Given the description of an element on the screen output the (x, y) to click on. 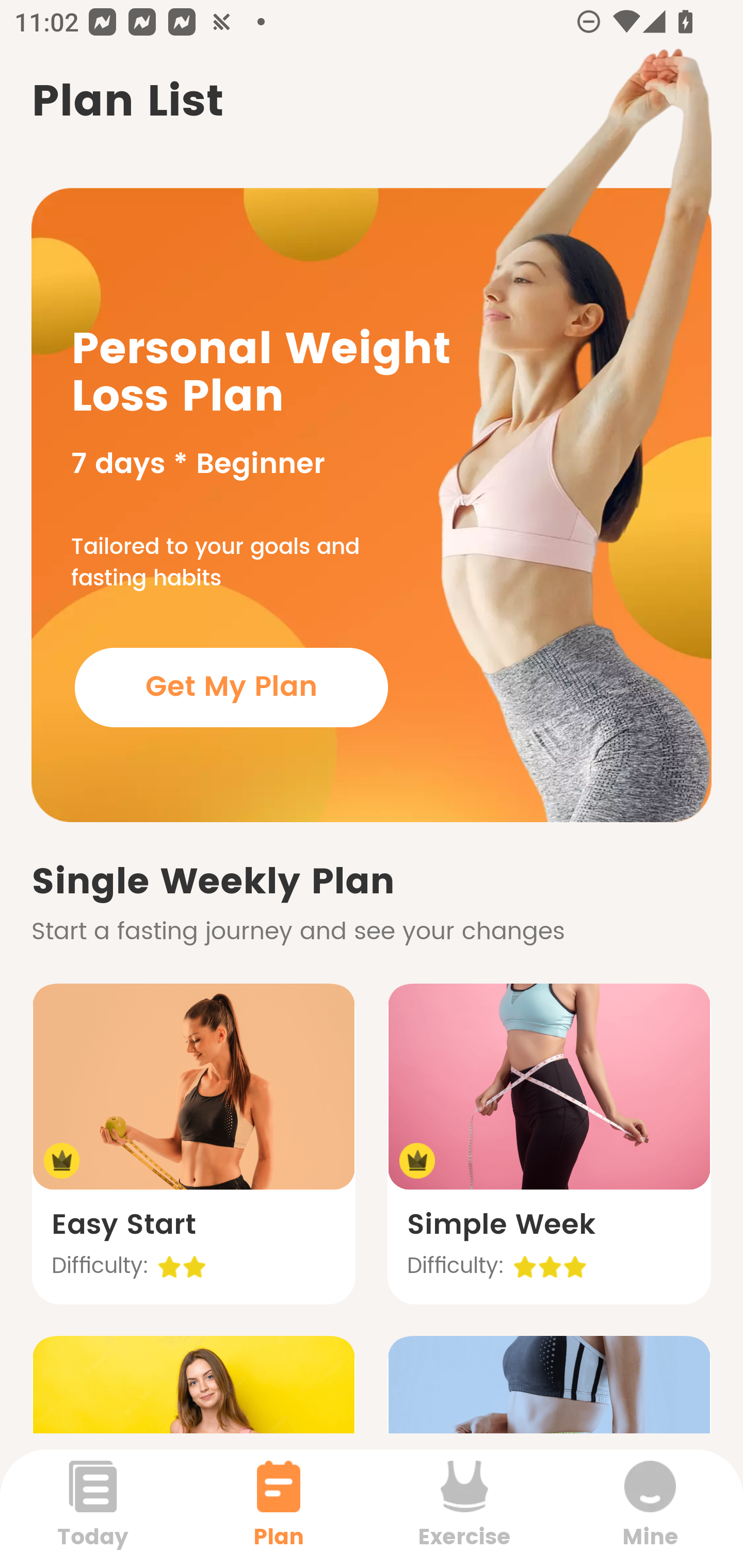
Get My Plan (231, 687)
Easy Start Difficulty: 2.0 (193, 1143)
Simple Week Difficulty: 3.0 (549, 1143)
Today (92, 1508)
Exercise (464, 1508)
Mine (650, 1508)
